Given the description of an element on the screen output the (x, y) to click on. 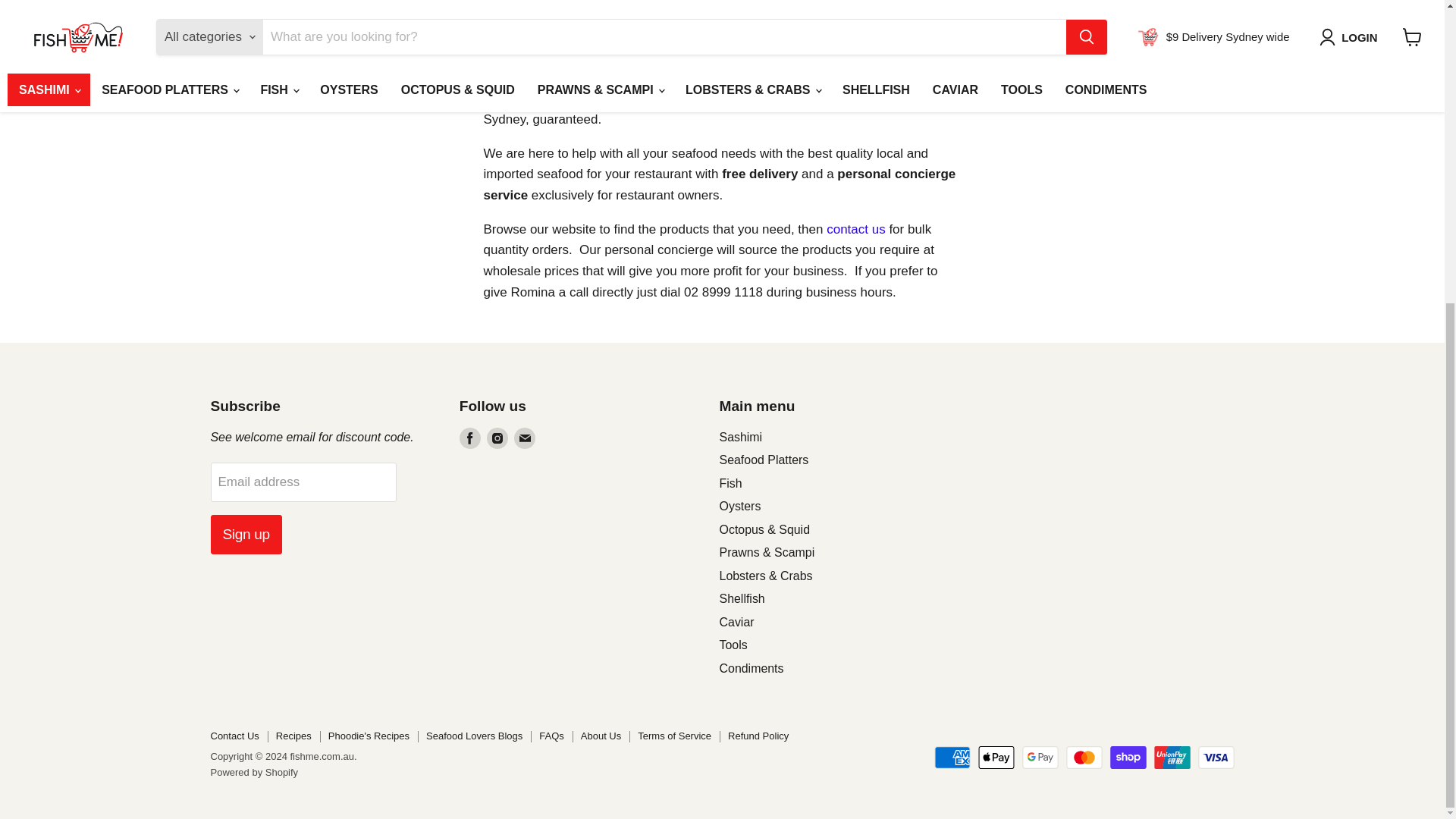
Apple Pay (996, 757)
Google Pay (1040, 757)
Facebook (470, 437)
American Express (952, 757)
Visa (1216, 757)
Email (524, 437)
Shop Pay (1128, 757)
Instagram (497, 437)
Mastercard (1083, 757)
Union Pay (1172, 757)
